Given the description of an element on the screen output the (x, y) to click on. 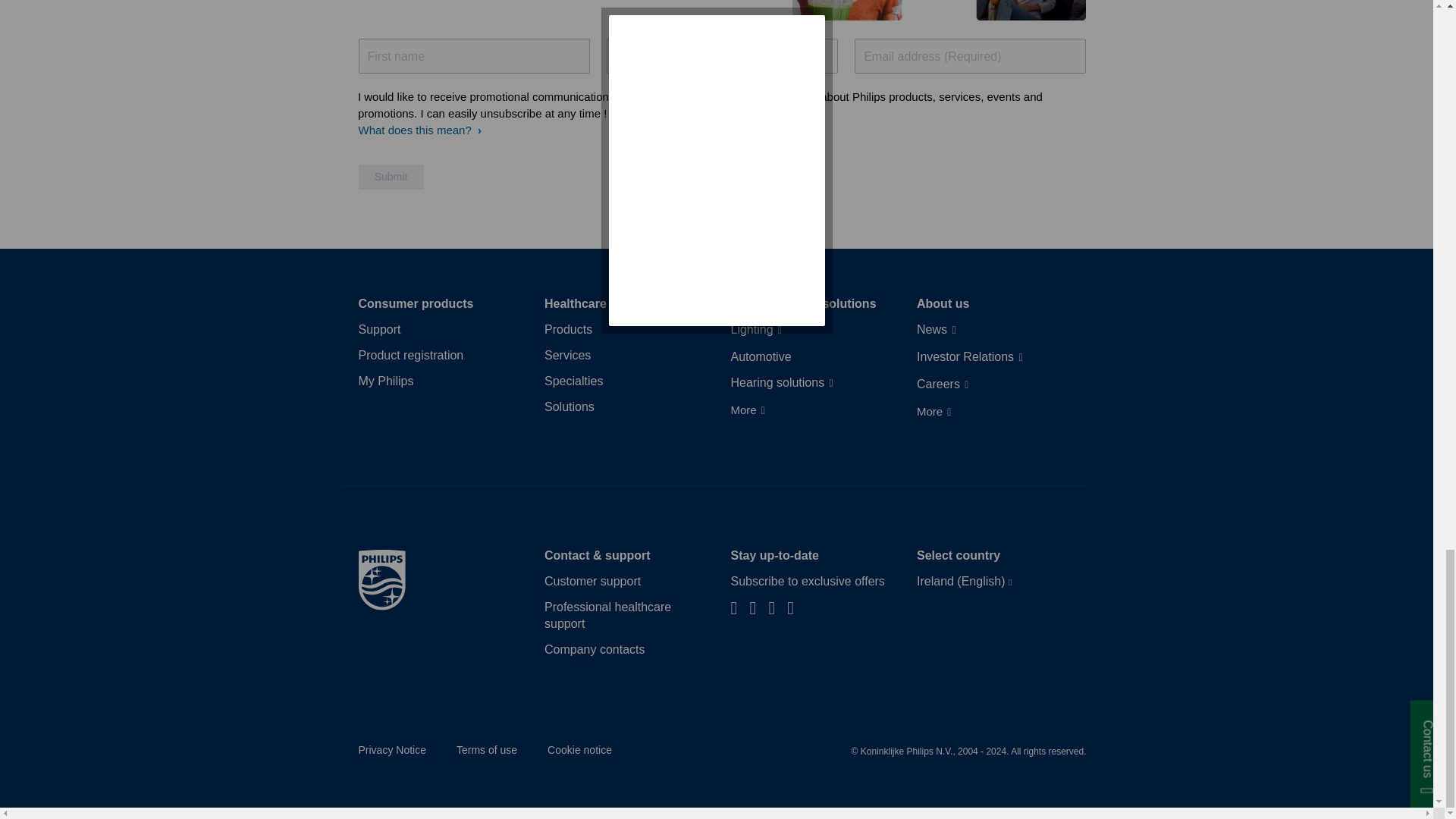
Support (379, 329)
My Philips (385, 381)
Submit (390, 176)
Last name (722, 55)
Consumer products (415, 303)
Services (567, 355)
Automotive (761, 356)
Solutions (569, 406)
Product registration (410, 355)
Specialties (573, 381)
Products (568, 329)
This field is required (970, 55)
First name (473, 55)
Healthcare professionals (616, 303)
